Given the description of an element on the screen output the (x, y) to click on. 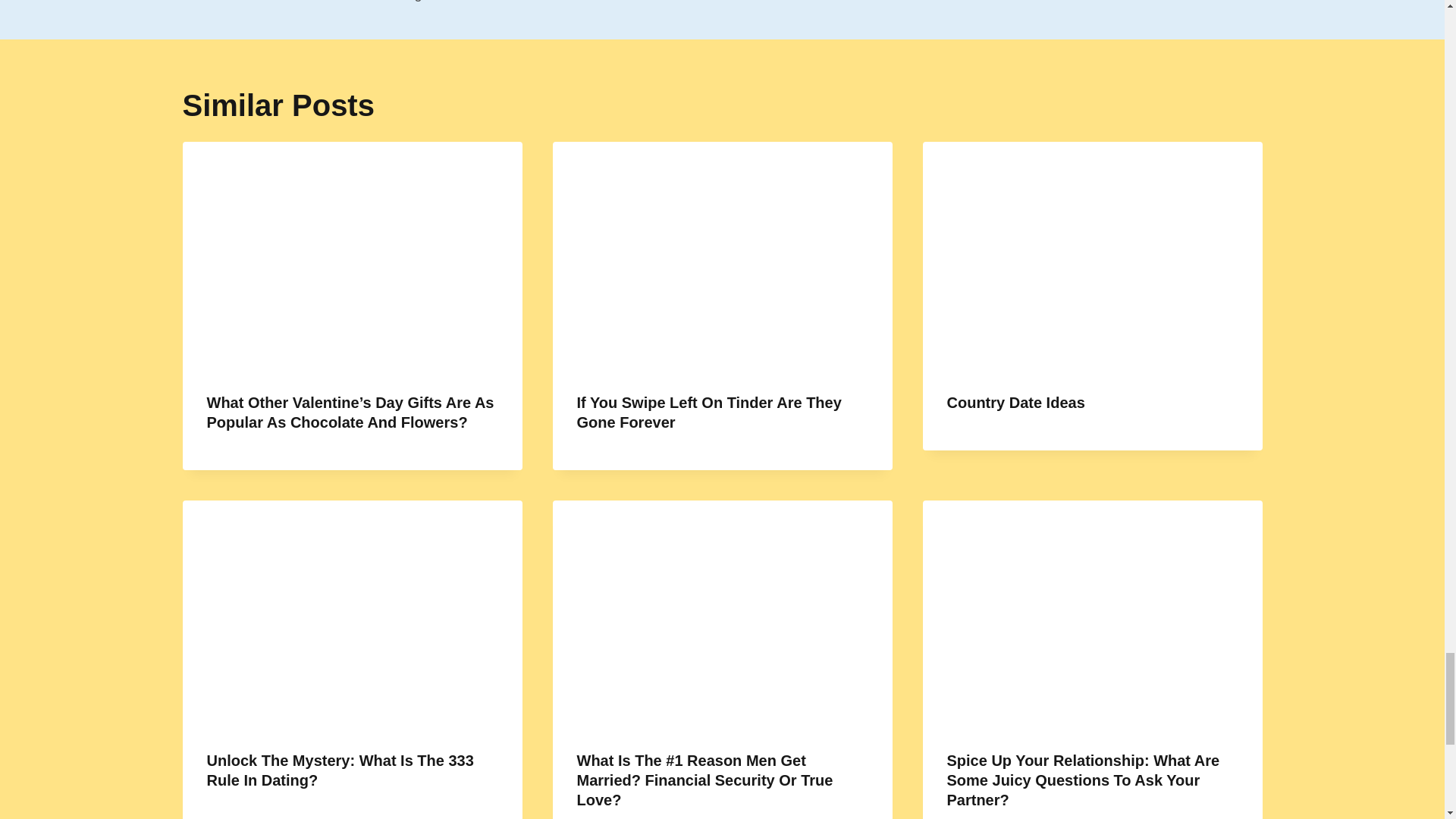
Country Date Ideas (708, 411)
Unlock The Mystery: What Is The 333 Rule In Dating? (1015, 402)
